Given the description of an element on the screen output the (x, y) to click on. 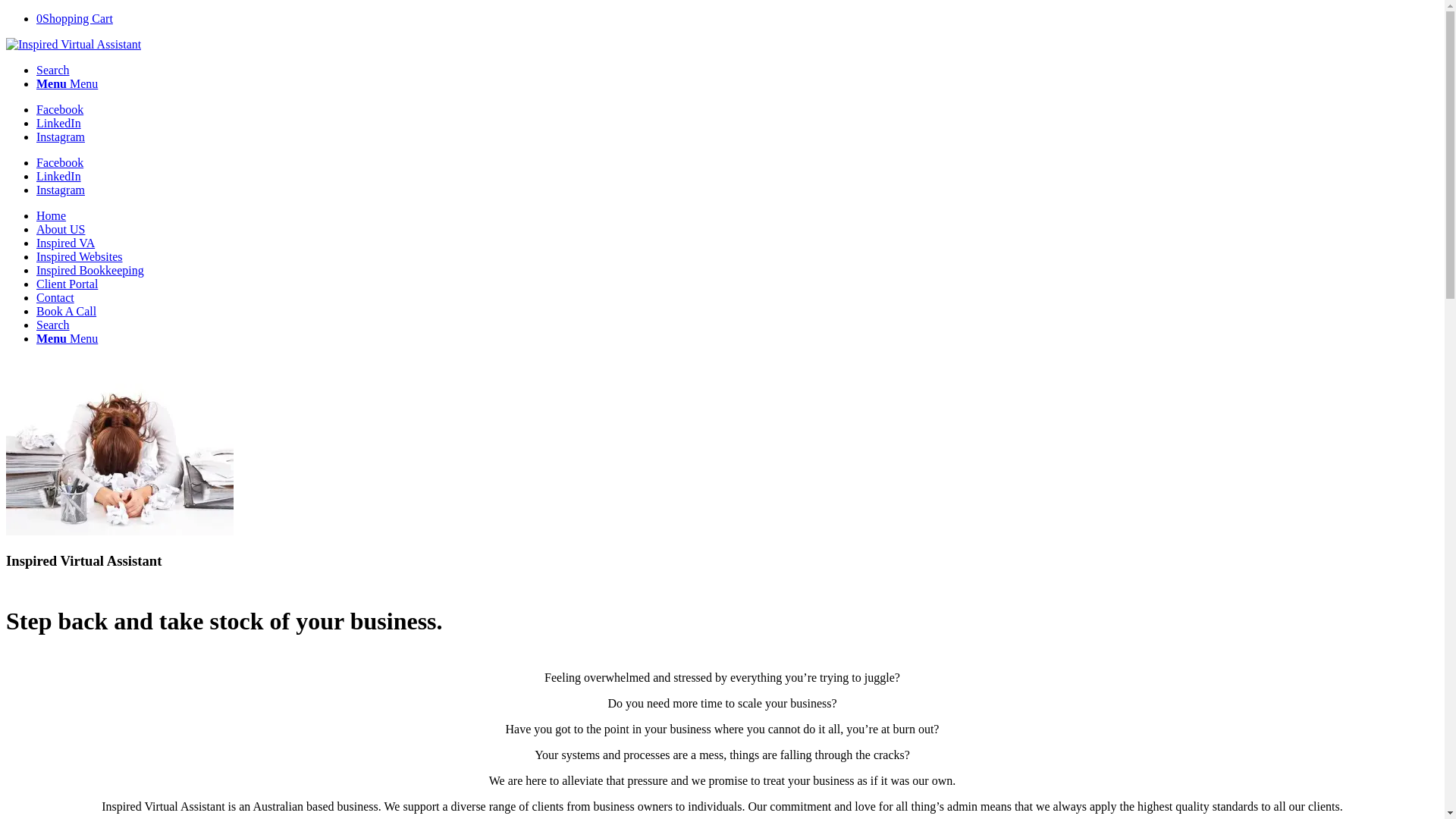
LinkedIn Element type: text (58, 175)
Inspired Websites Element type: text (79, 256)
Inspired Bookkeeping Element type: text (90, 269)
Menu Menu Element type: text (66, 83)
Search Element type: text (52, 324)
Client Portal Element type: text (66, 283)
Overworked Element type: hover (119, 459)
LinkedIn Element type: text (58, 122)
Instagram Element type: text (60, 136)
Instagram Element type: text (60, 189)
About US Element type: text (60, 228)
Facebook Element type: text (59, 162)
Search Element type: text (52, 69)
Home Element type: text (50, 215)
Facebook Element type: text (59, 109)
0Shopping Cart Element type: text (74, 18)
Contact Element type: text (55, 297)
Menu Menu Element type: text (66, 338)
Inspired VA Element type: text (65, 242)
Book A Call Element type: text (66, 310)
